Given the description of an element on the screen output the (x, y) to click on. 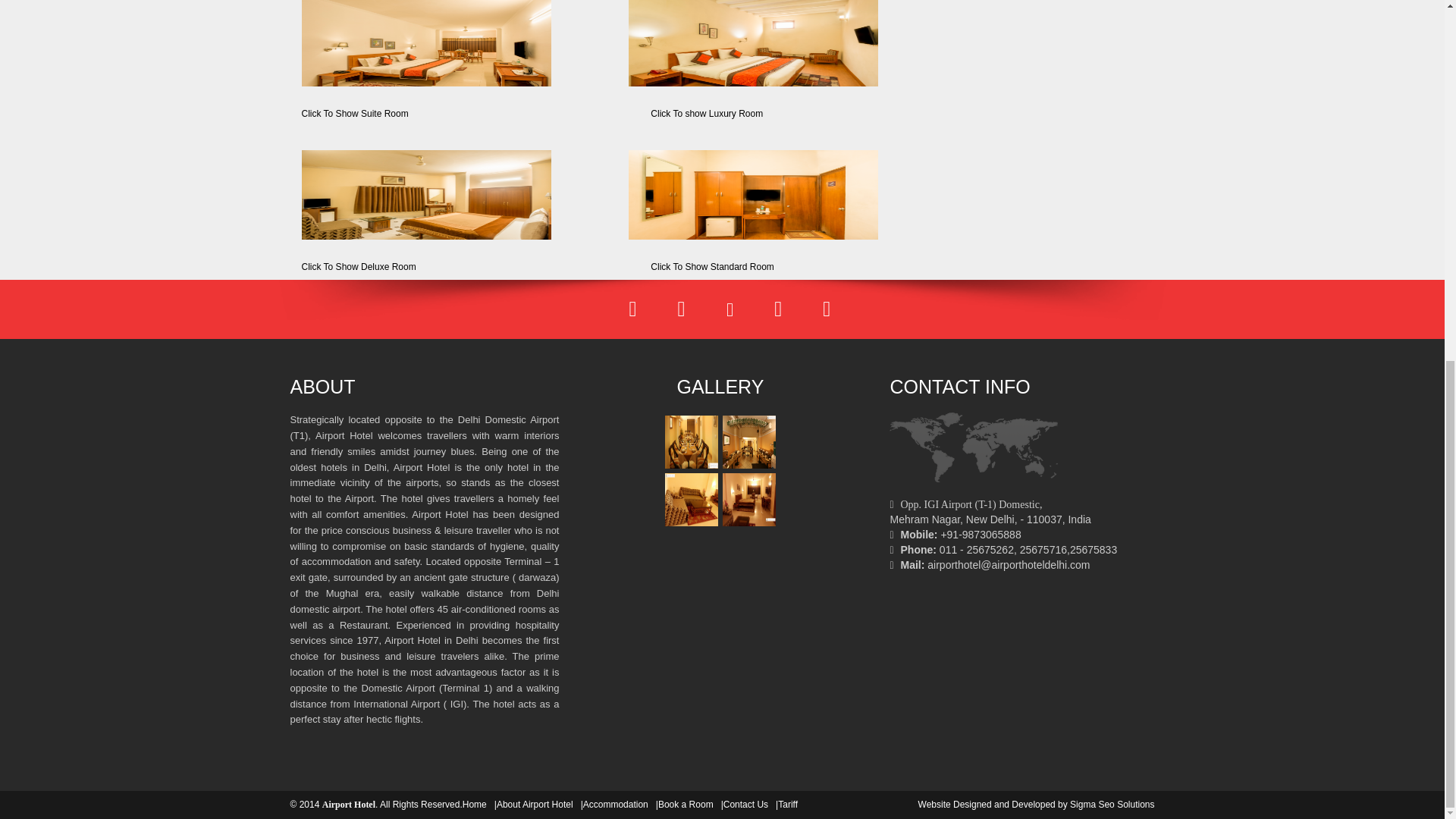
Contact Us (749, 804)
Click To Show Suite Room (403, 59)
About Airport Hotel (538, 804)
Click To show Luxury Room (752, 59)
Home (479, 804)
Book a Room (689, 804)
Click To Show Standard Room (752, 203)
Click To Show Deluxe Room (403, 203)
Accommodation (619, 804)
